Given the description of an element on the screen output the (x, y) to click on. 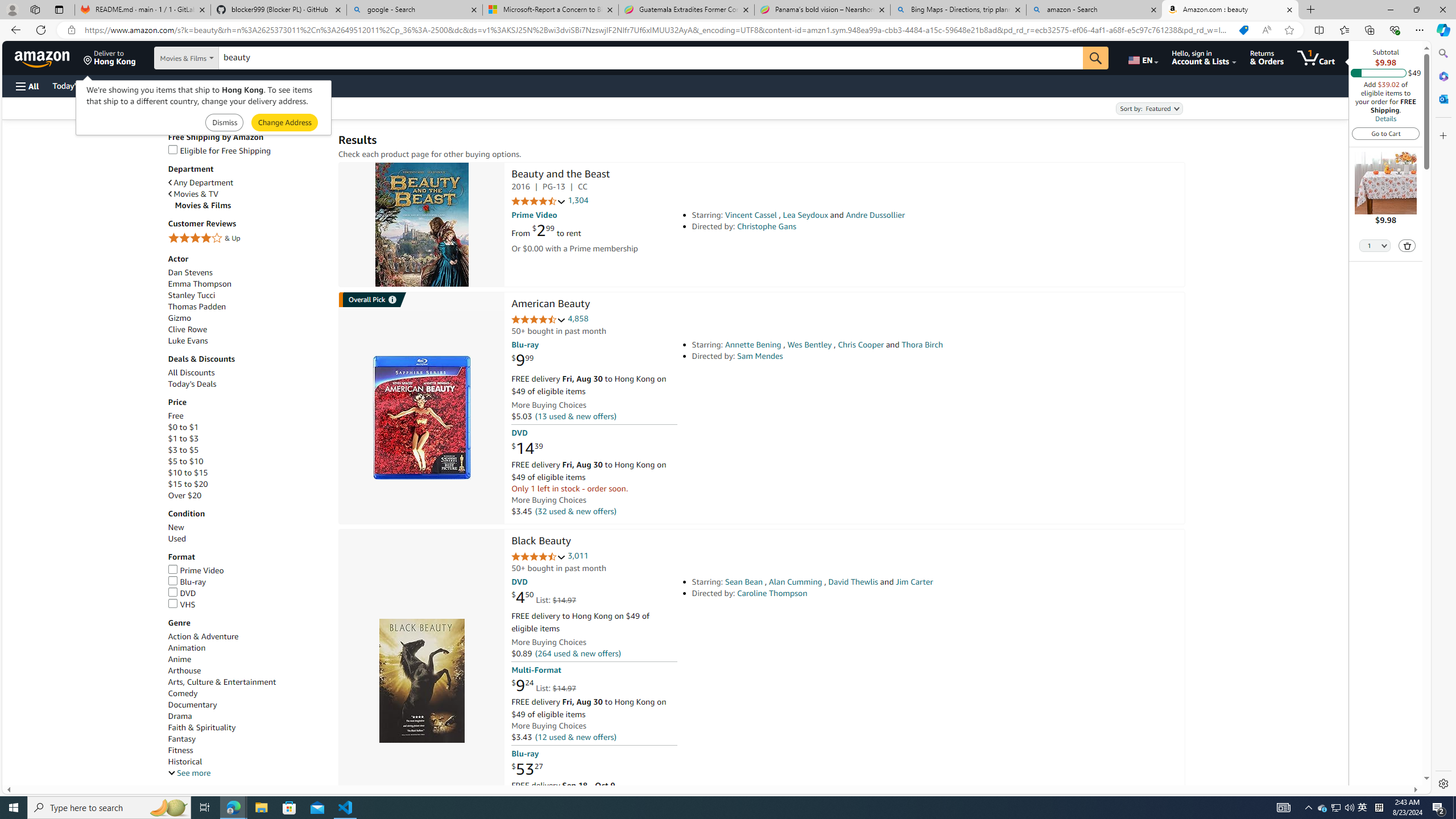
Arts, Culture & Entertainment (221, 681)
Animation (247, 647)
Fitness (247, 750)
Movies & TV (247, 194)
Directed by: Christophe Gans (850, 226)
Any Department (200, 182)
American Beauty (421, 417)
